Given the description of an element on the screen output the (x, y) to click on. 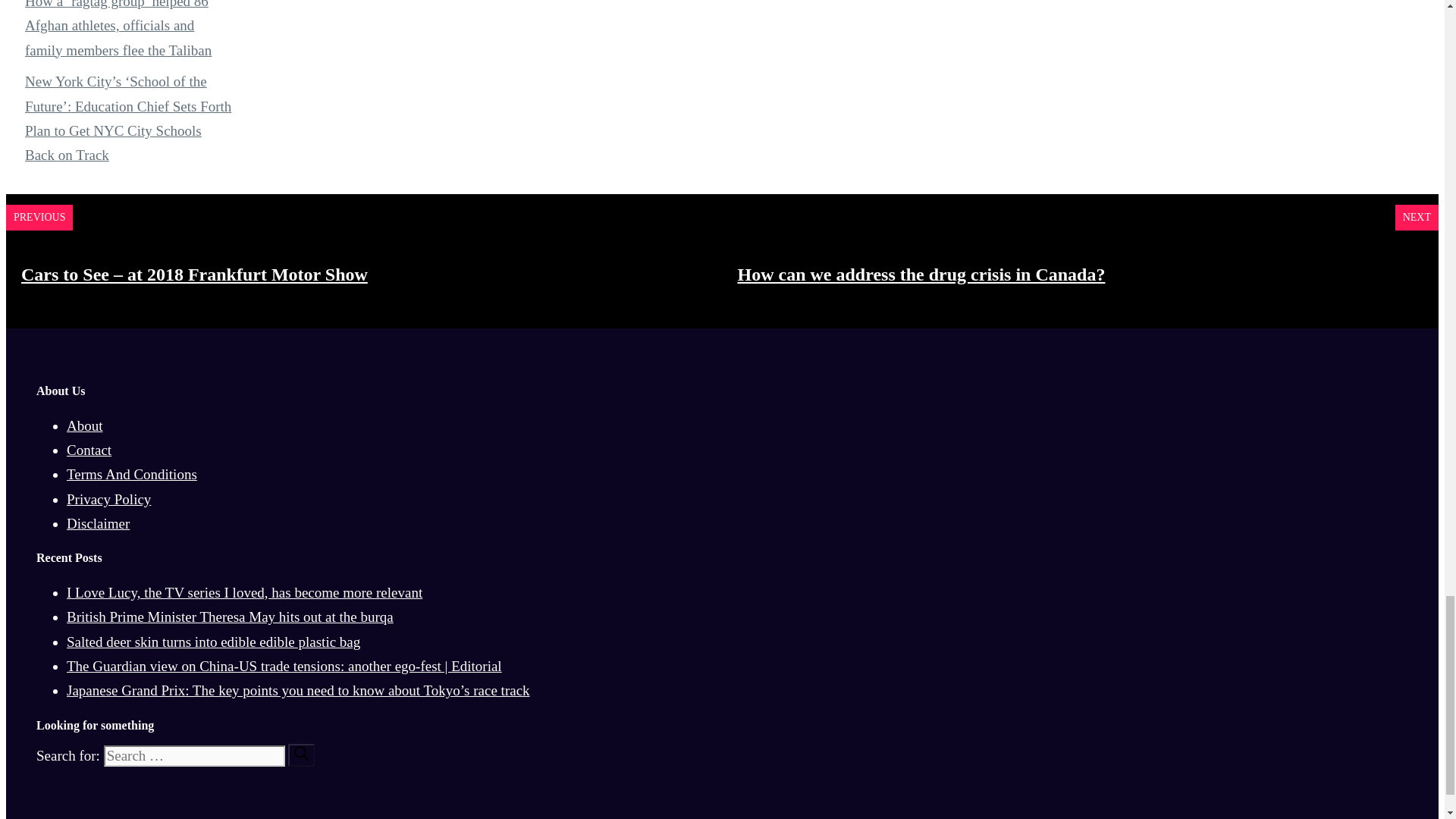
Search for: (194, 755)
How can we address the drug crisis in Canada? (920, 274)
About (84, 425)
